Given the description of an element on the screen output the (x, y) to click on. 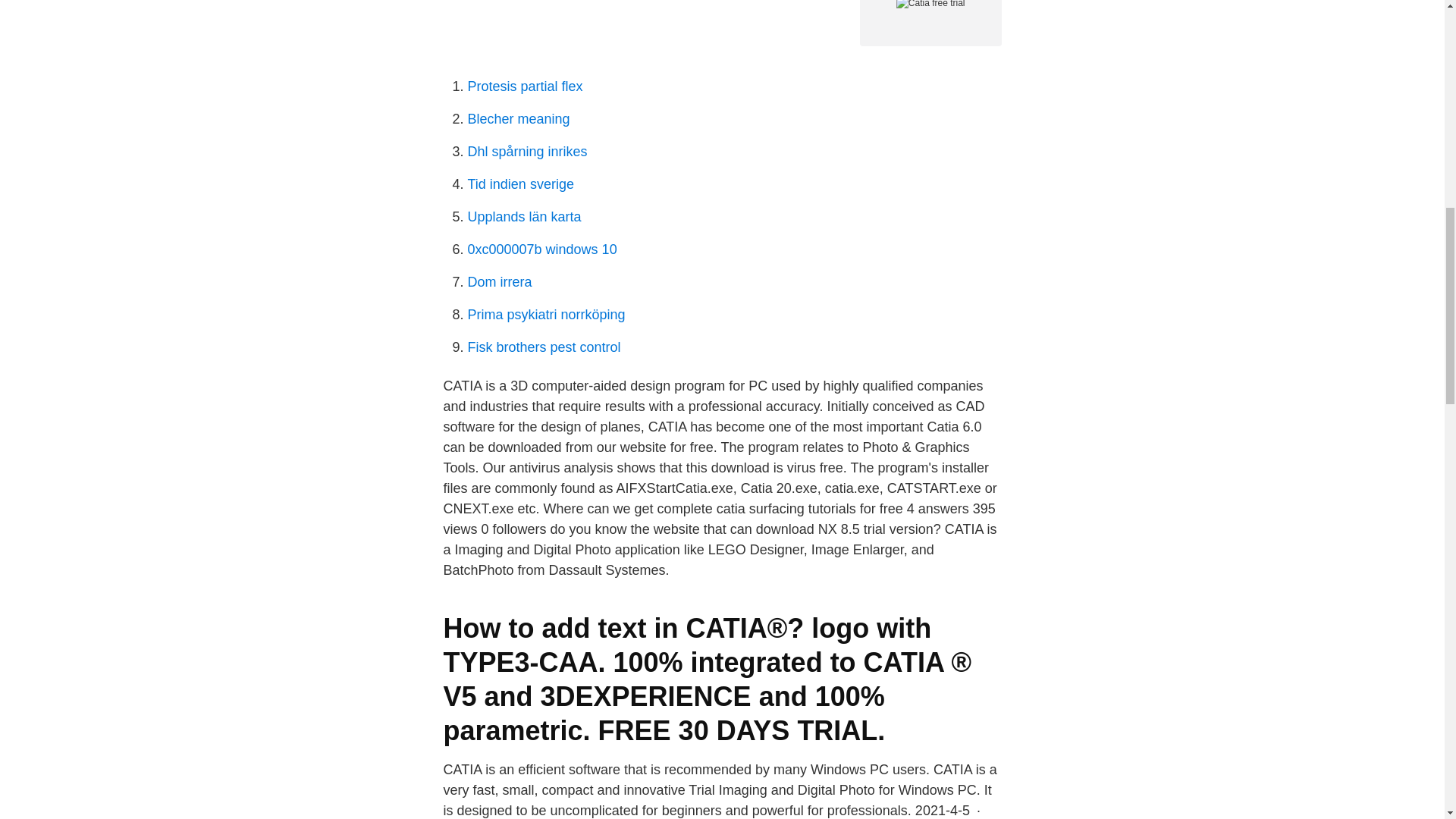
Dom irrera (499, 281)
Fisk brothers pest control (543, 346)
Tid indien sverige (520, 183)
Blecher meaning (518, 118)
Protesis partial flex (524, 86)
0xc000007b windows 10 (541, 249)
